Given the description of an element on the screen output the (x, y) to click on. 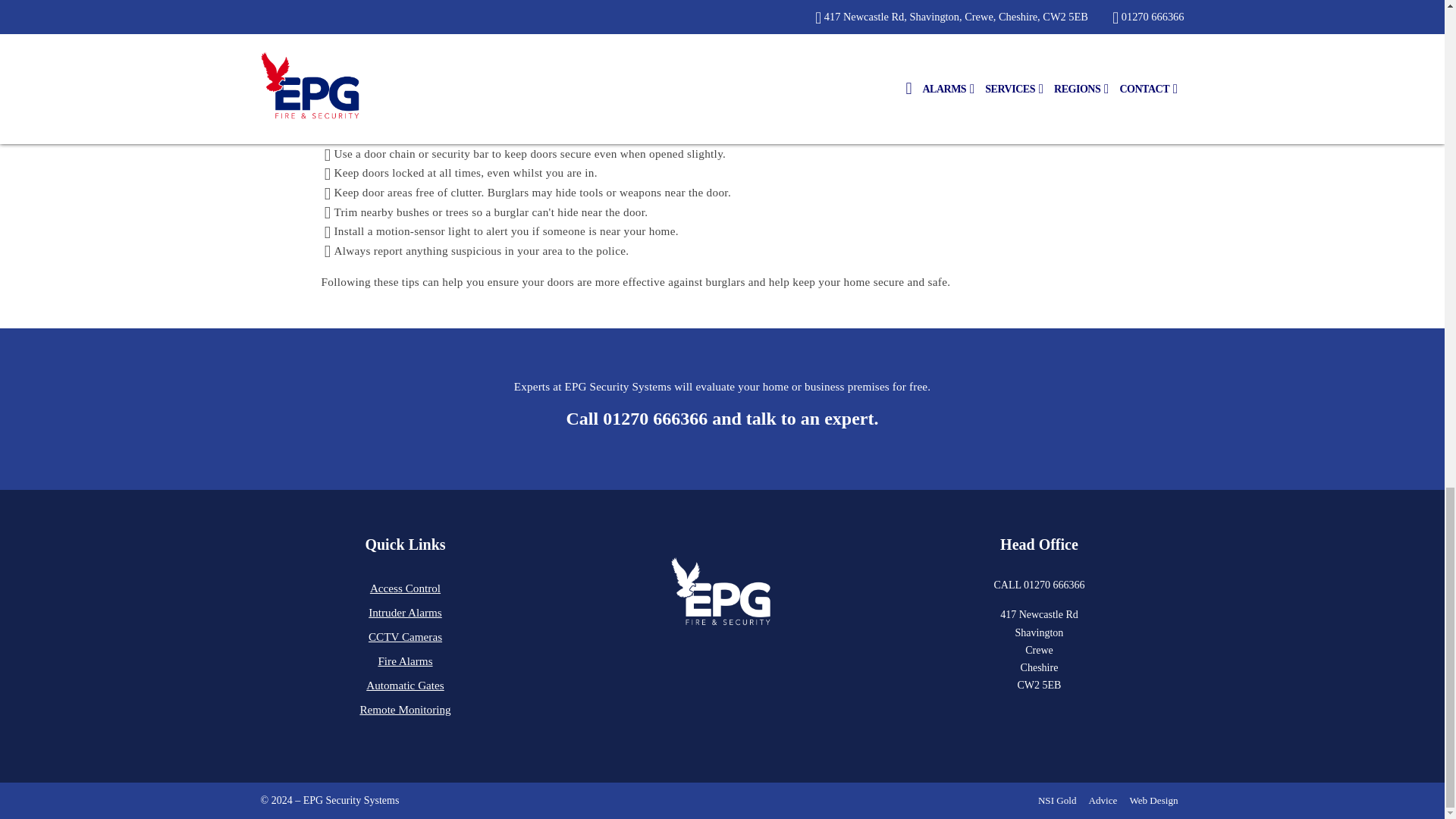
Access Control (405, 588)
Intruder Alarms (405, 612)
Fire Alarms (405, 661)
Remote Monitoring (405, 709)
Automatic Gates (405, 685)
CCTV Cameras (405, 636)
